Given the description of an element on the screen output the (x, y) to click on. 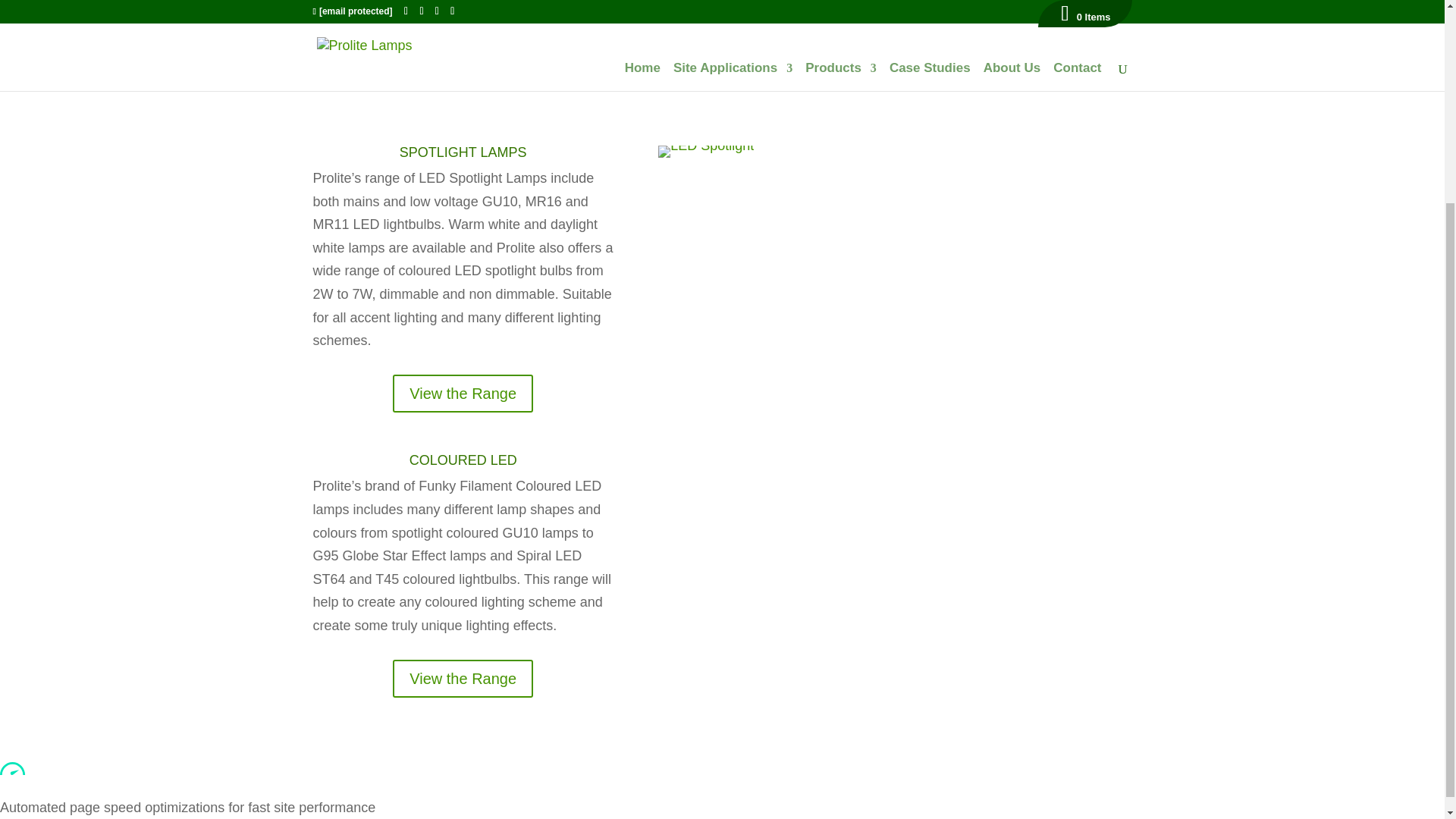
LED Spotlight (706, 151)
